Given the description of an element on the screen output the (x, y) to click on. 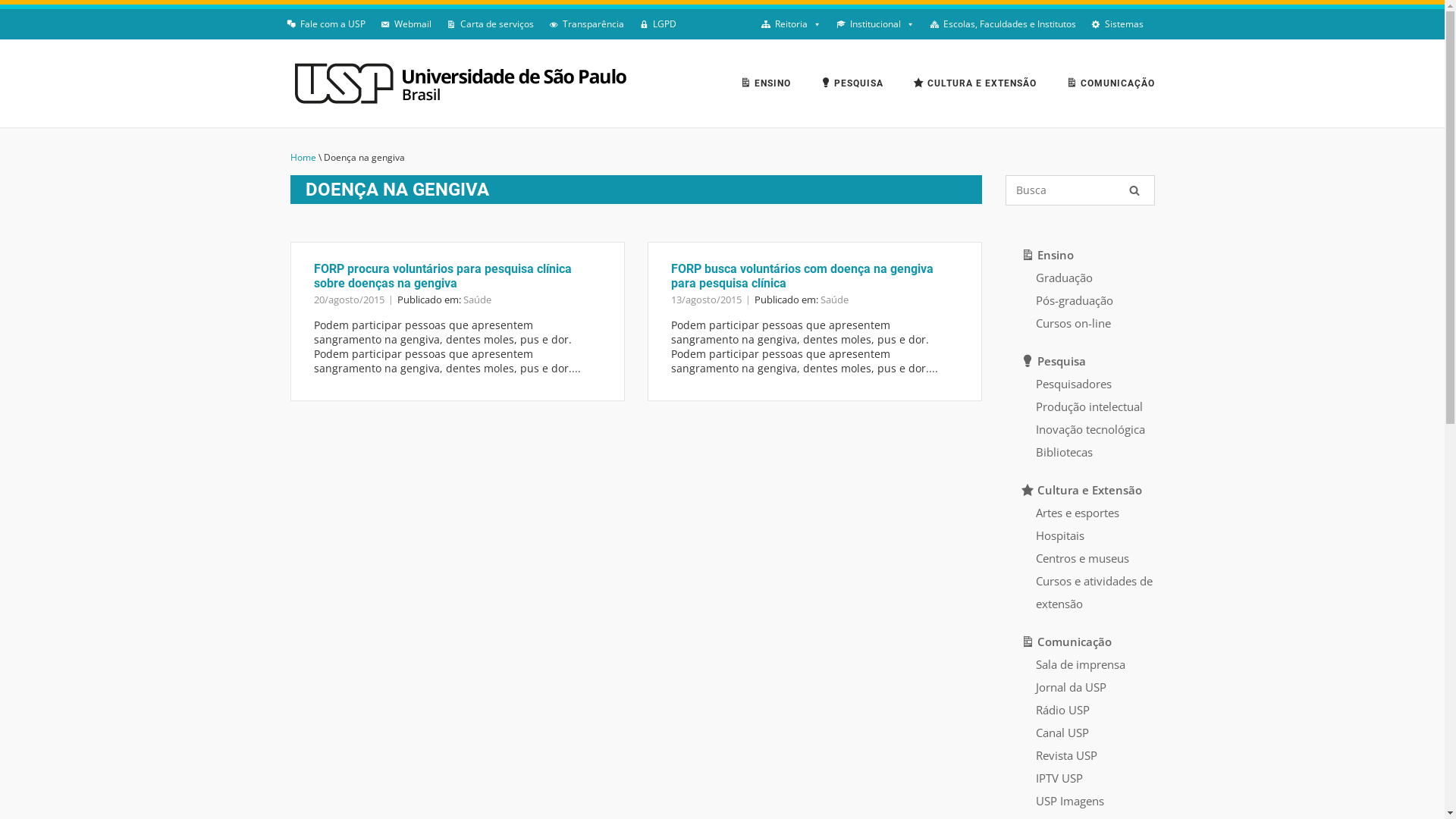
Ensino Element type: text (1047, 254)
Home Element type: text (302, 156)
USP Imagens Element type: text (1069, 800)
PESQUISA Element type: text (852, 85)
Hospitais Element type: text (1059, 534)
Canal USP Element type: text (1061, 732)
ENSINO Element type: text (765, 85)
Escolas, Faculdades e Institutos Element type: text (1002, 24)
Pesquisadores Element type: text (1073, 383)
Cursos on-line Element type: text (1072, 322)
Pesquisa Element type: text (1053, 360)
Jornal da USP Element type: text (1070, 686)
Sistemas Element type: text (1116, 24)
Centros e museus Element type: text (1082, 557)
Fale com a USP Element type: text (326, 24)
Revista USP Element type: text (1066, 754)
LGPD Element type: text (656, 24)
Sala de imprensa Element type: text (1080, 663)
Bibliotecas Element type: text (1063, 451)
Artes e esportes Element type: text (1077, 512)
13/agosto/2015 Element type: text (705, 299)
IPTV USP Element type: text (1058, 777)
Institucional Element type: text (874, 24)
Webmail Element type: text (406, 24)
20/agosto/2015 Element type: text (348, 299)
Reitoria Element type: text (790, 24)
